Given the description of an element on the screen output the (x, y) to click on. 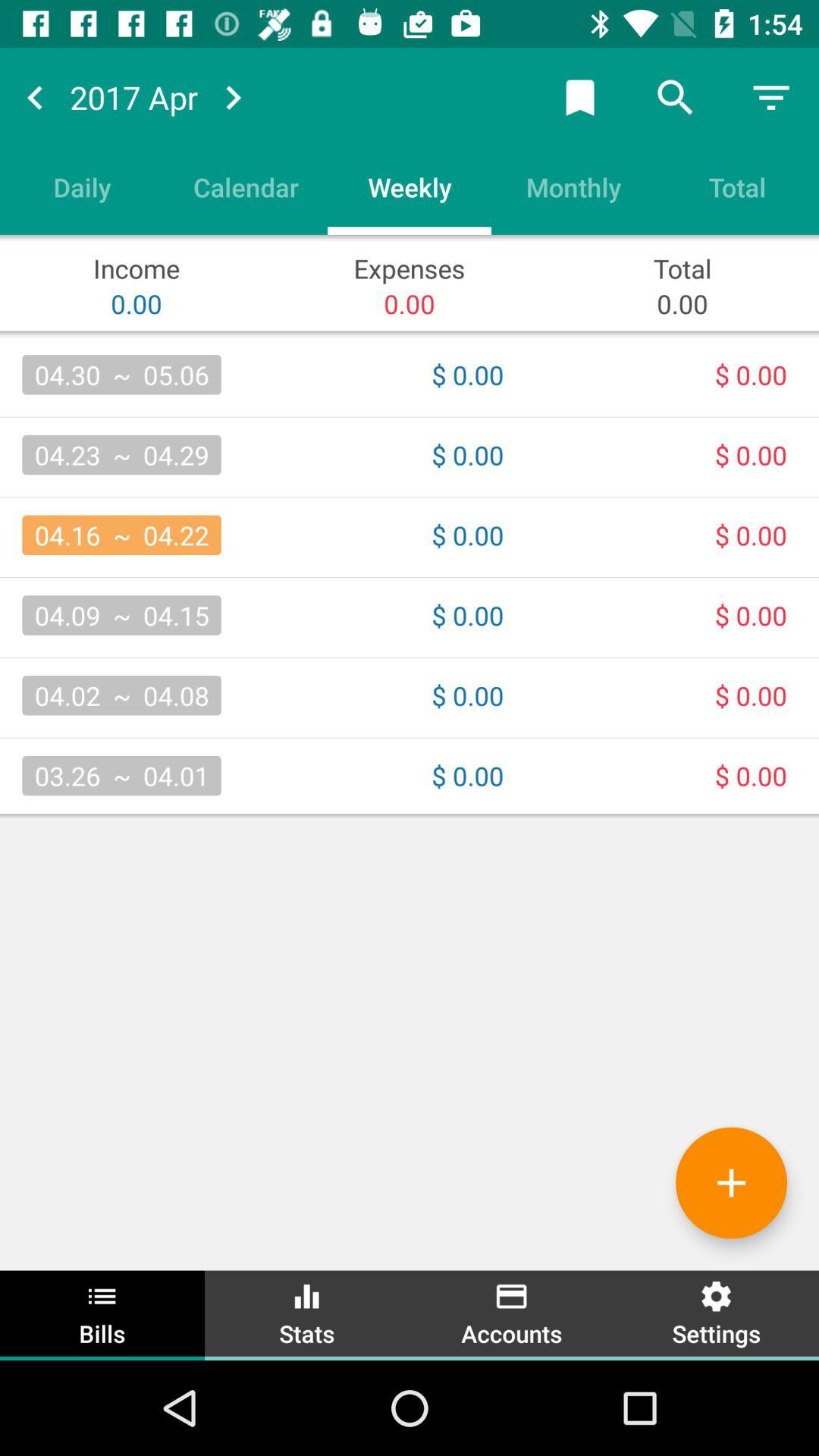
launch the monthly icon (573, 186)
